Given the description of an element on the screen output the (x, y) to click on. 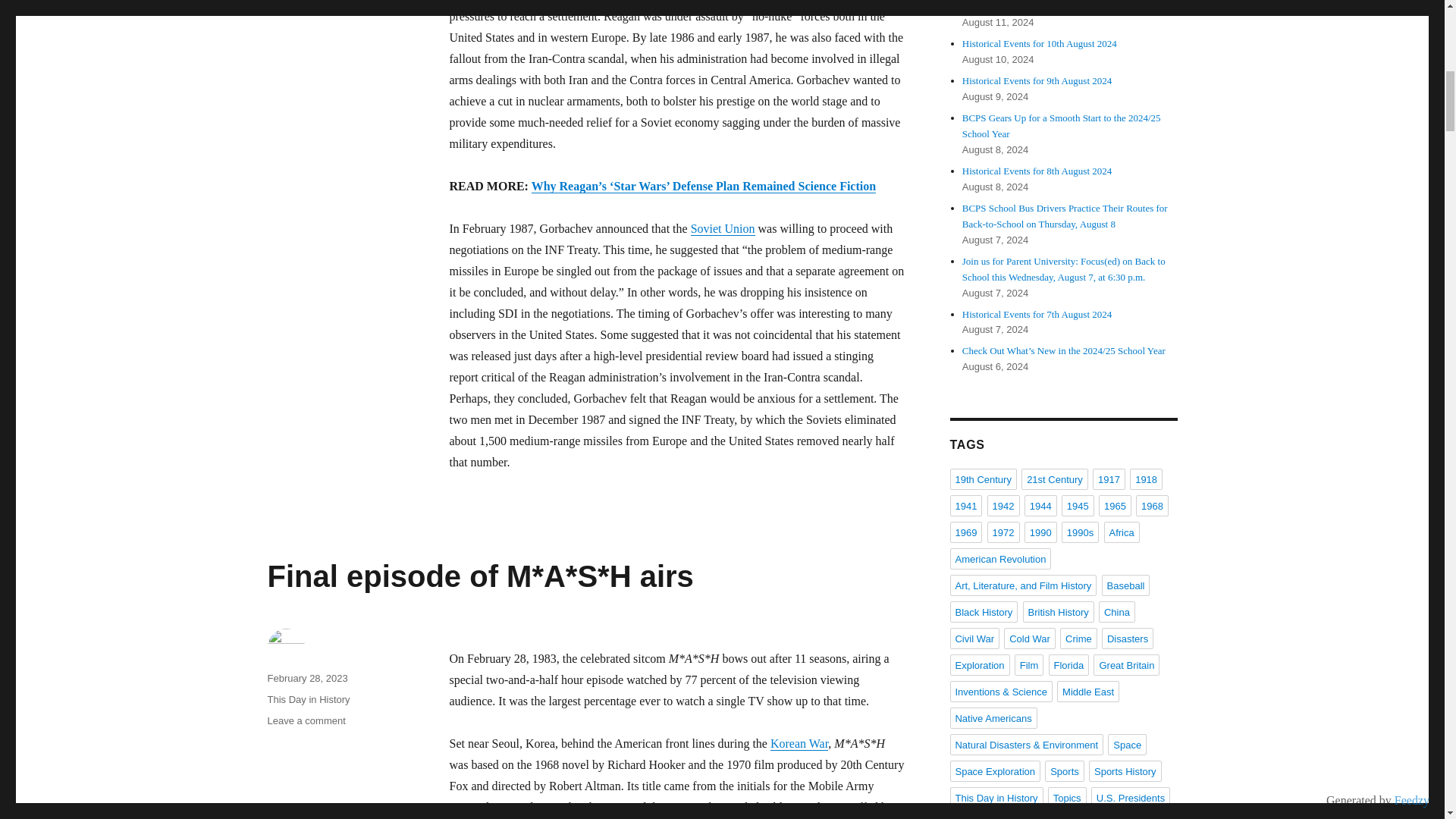
Korean War (799, 743)
This Day in History (307, 699)
Soviet Union (722, 228)
February 28, 2023 (306, 677)
